Given the description of an element on the screen output the (x, y) to click on. 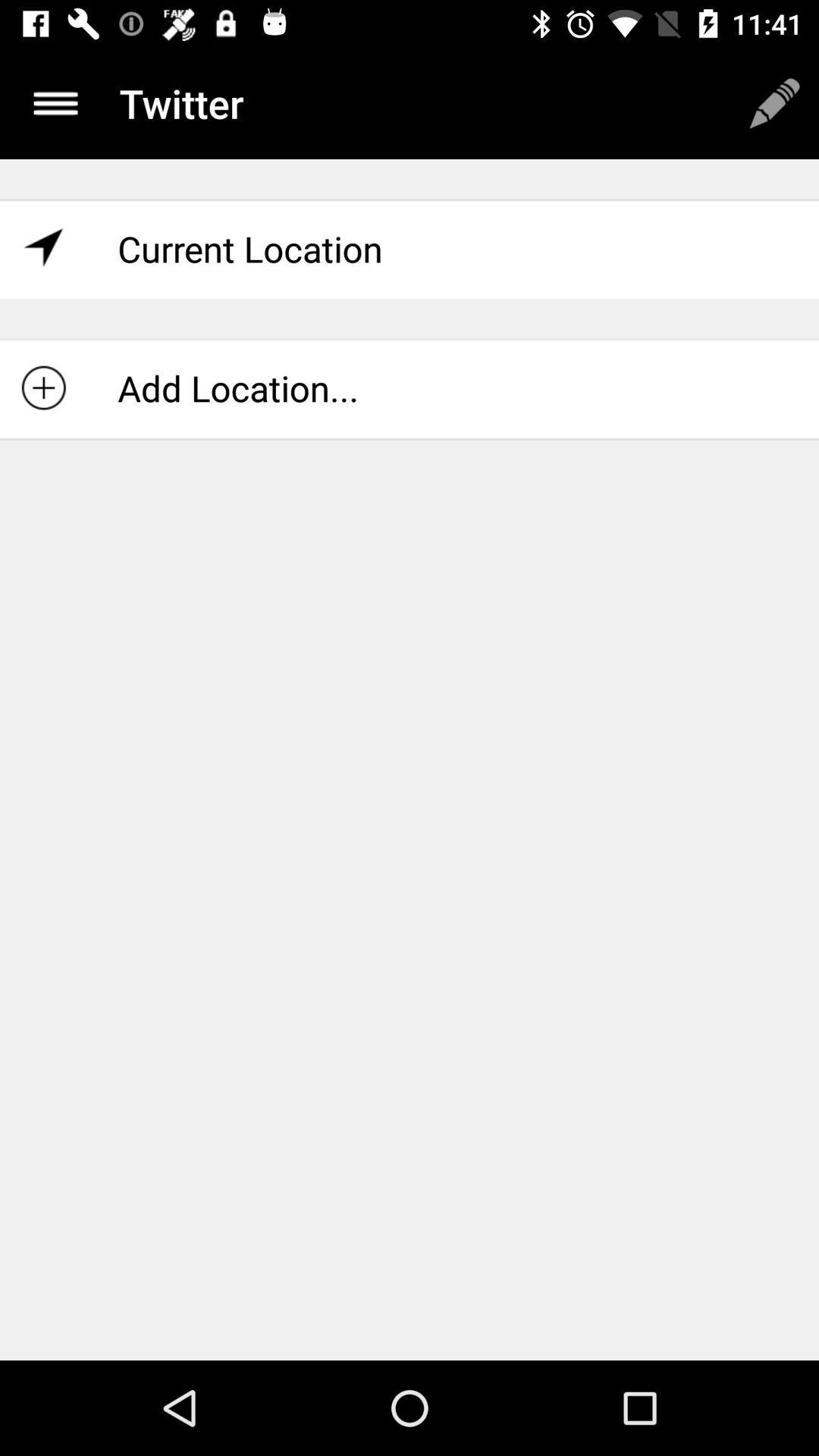
select the current location item (409, 248)
